Given the description of an element on the screen output the (x, y) to click on. 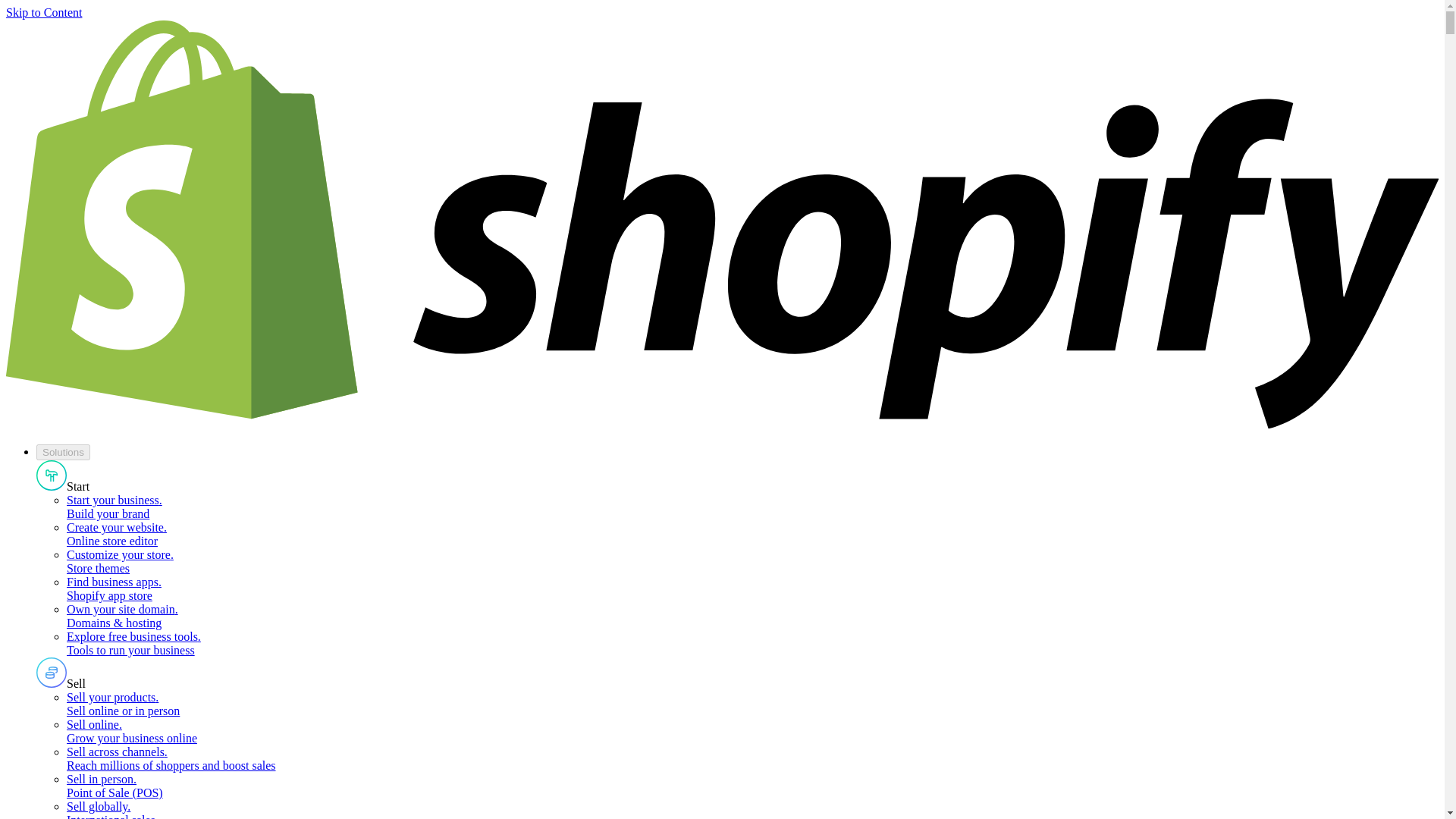
Solutions (63, 452)
Skip to Content (43, 11)
